Given the description of an element on the screen output the (x, y) to click on. 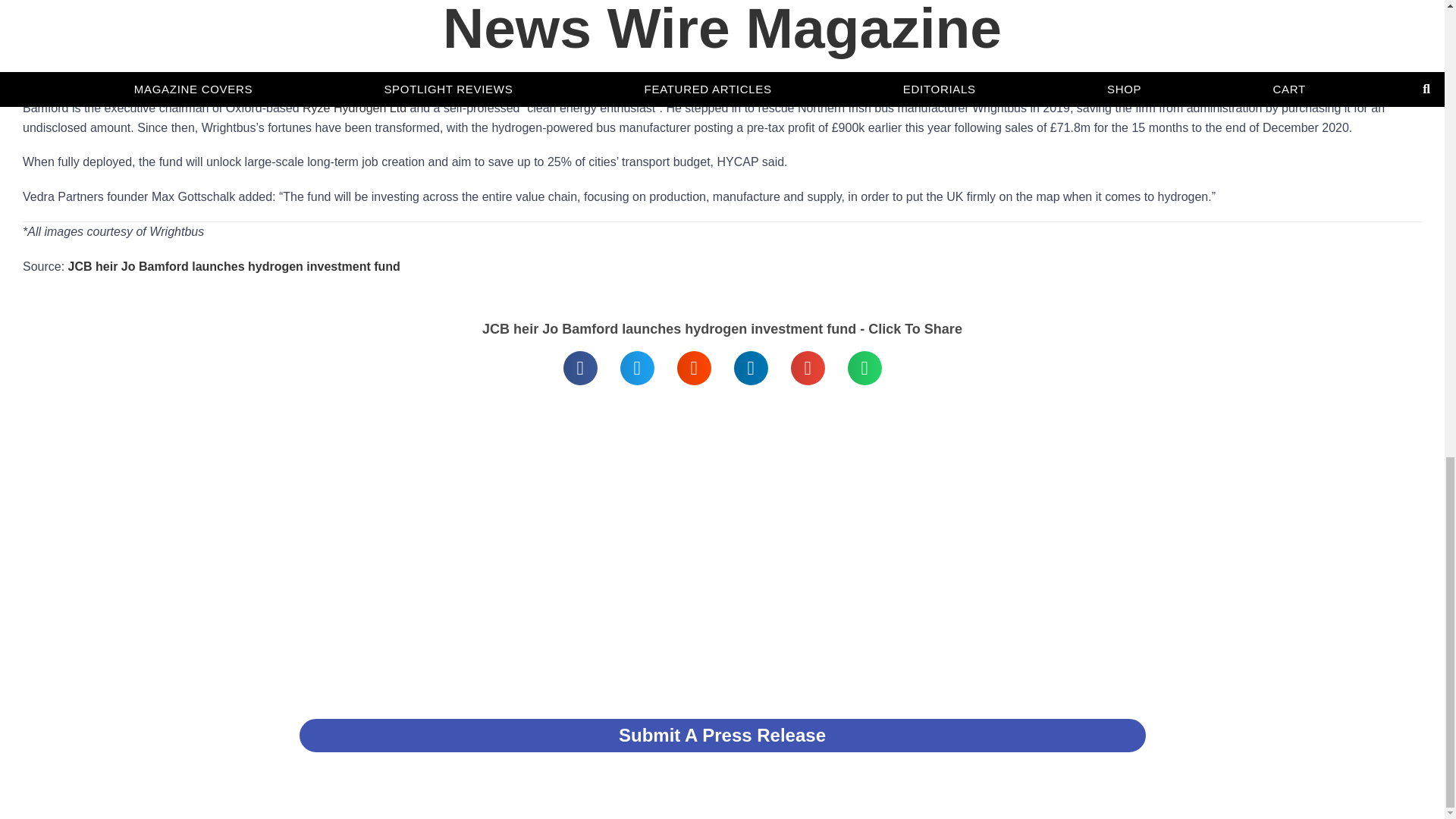
Ryze Hydrogen Ltd (354, 107)
JCB heir Jo Bamford launches hydrogen investment fund (349, 23)
JCB heir Jo Bamford launches hydrogen investment fund (234, 266)
Submit A Press Release (722, 735)
